Given the description of an element on the screen output the (x, y) to click on. 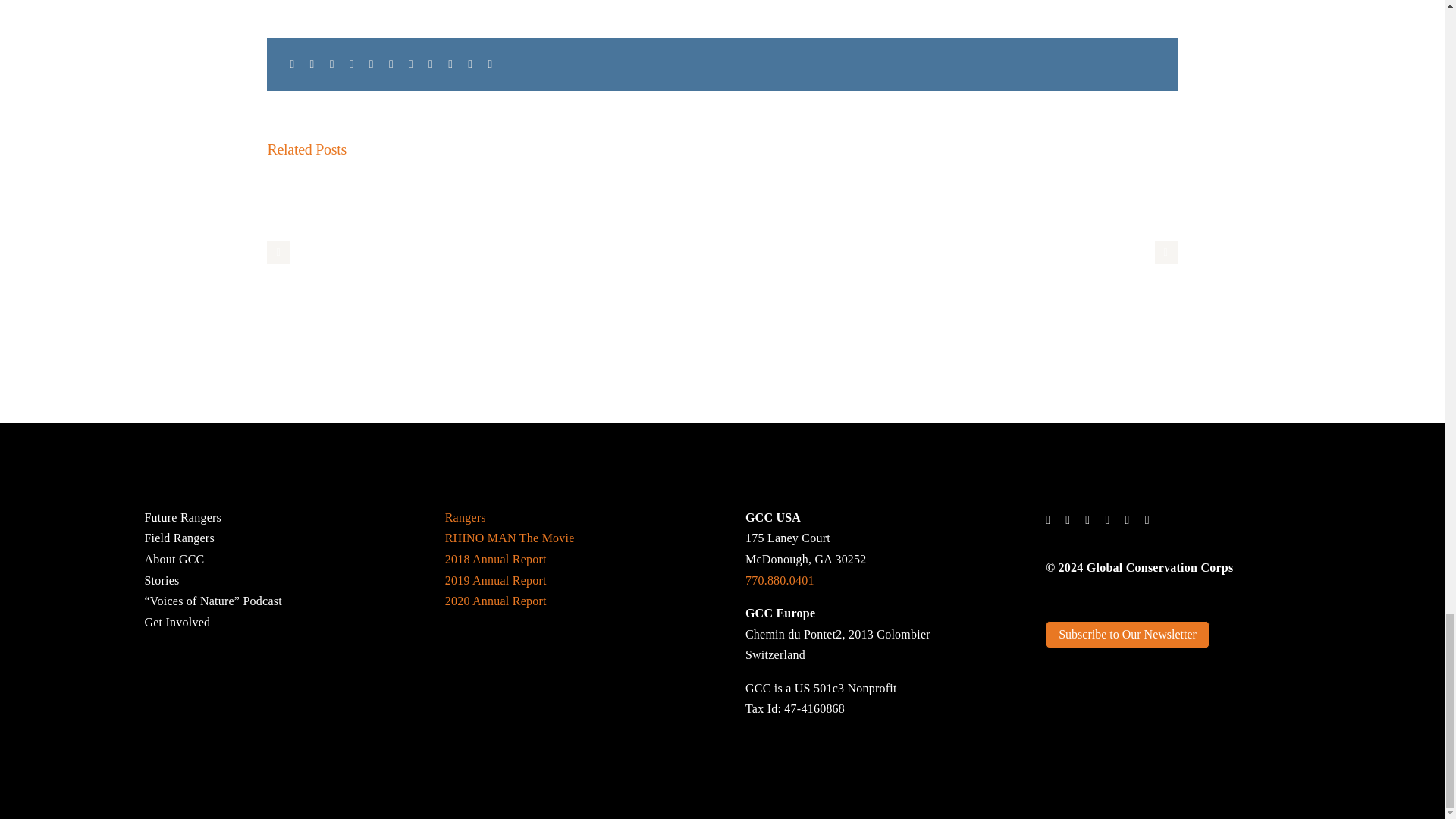
Tumblr (410, 64)
X (311, 64)
Xing (470, 64)
Reddit (331, 64)
Pinterest (430, 64)
Telegram (391, 64)
Vk (450, 64)
Email (489, 64)
LinkedIn (351, 64)
Facebook (291, 64)
WhatsApp (371, 64)
